Given the description of an element on the screen output the (x, y) to click on. 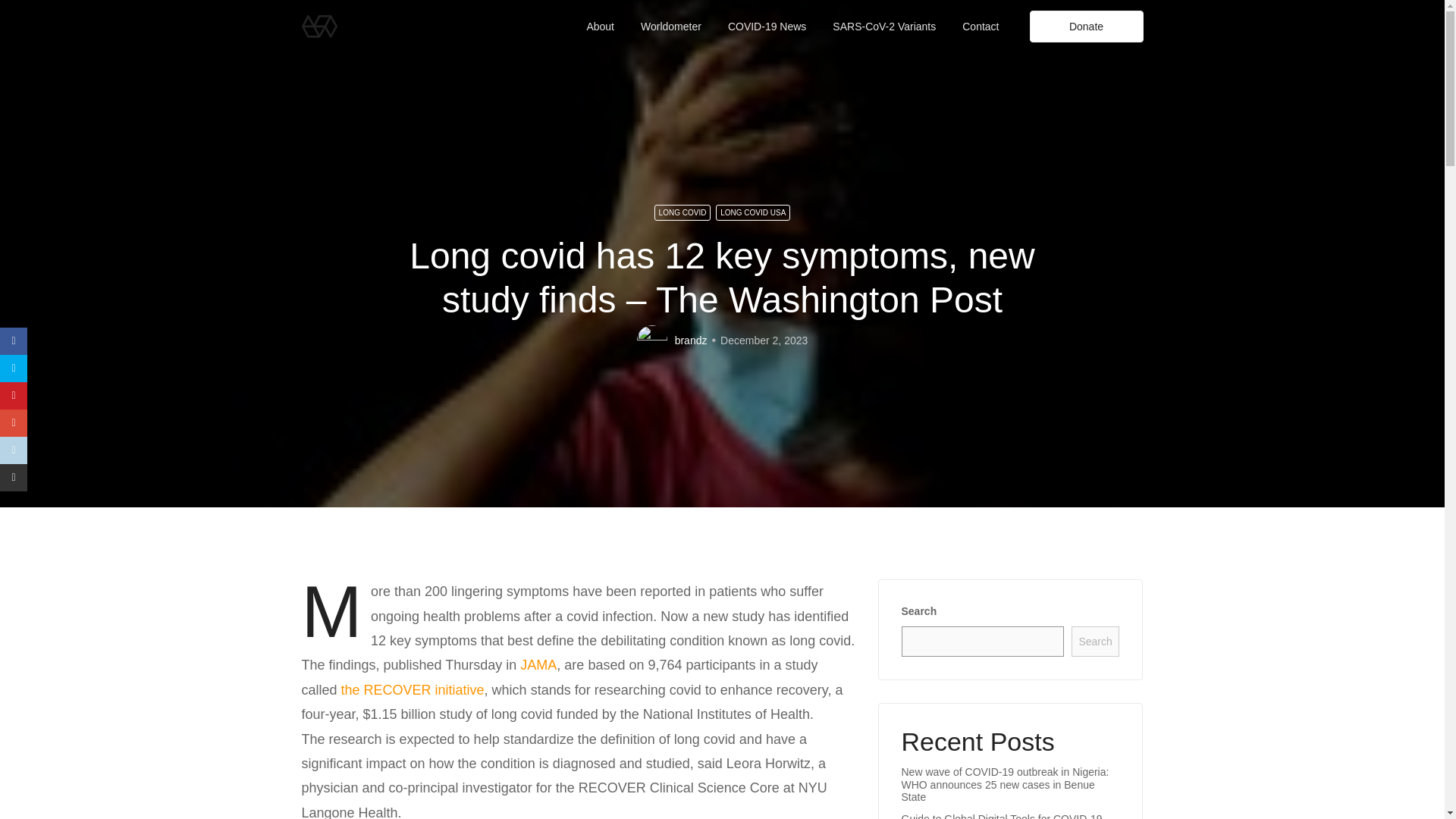
Long COVID NEWS (767, 26)
Worldometer (670, 26)
JAMA (537, 664)
LONG COVID USA (753, 212)
brandz (691, 340)
LONG COVID (682, 212)
COVID-19 News (767, 26)
SARS-CoV-2 Variants (884, 26)
the RECOVER initiative (412, 689)
Coronavirus Worldometer (670, 26)
Donate (1085, 26)
SARS-CoV-2 Variants (884, 26)
